Given the description of an element on the screen output the (x, y) to click on. 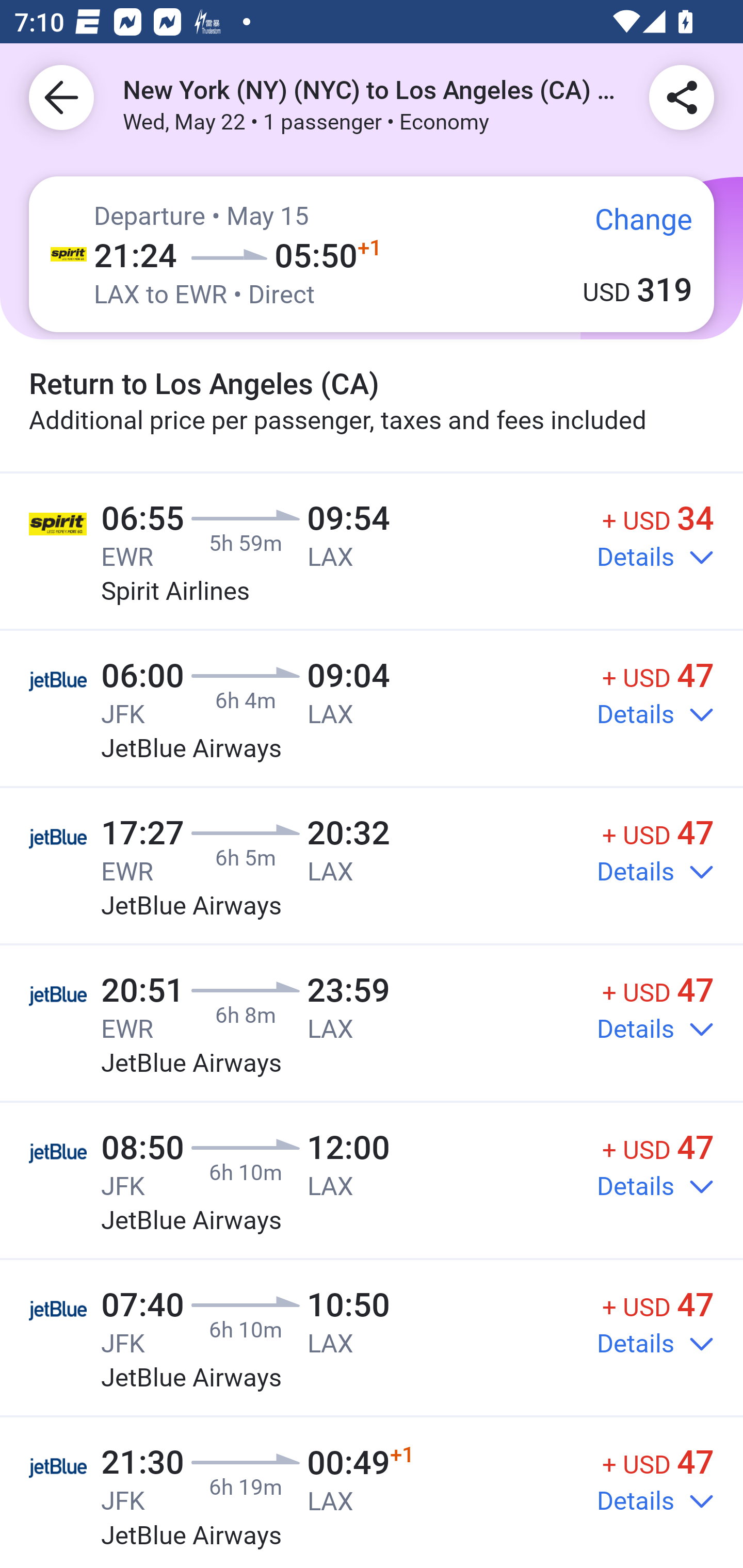
Change (629, 228)
